Given the description of an element on the screen output the (x, y) to click on. 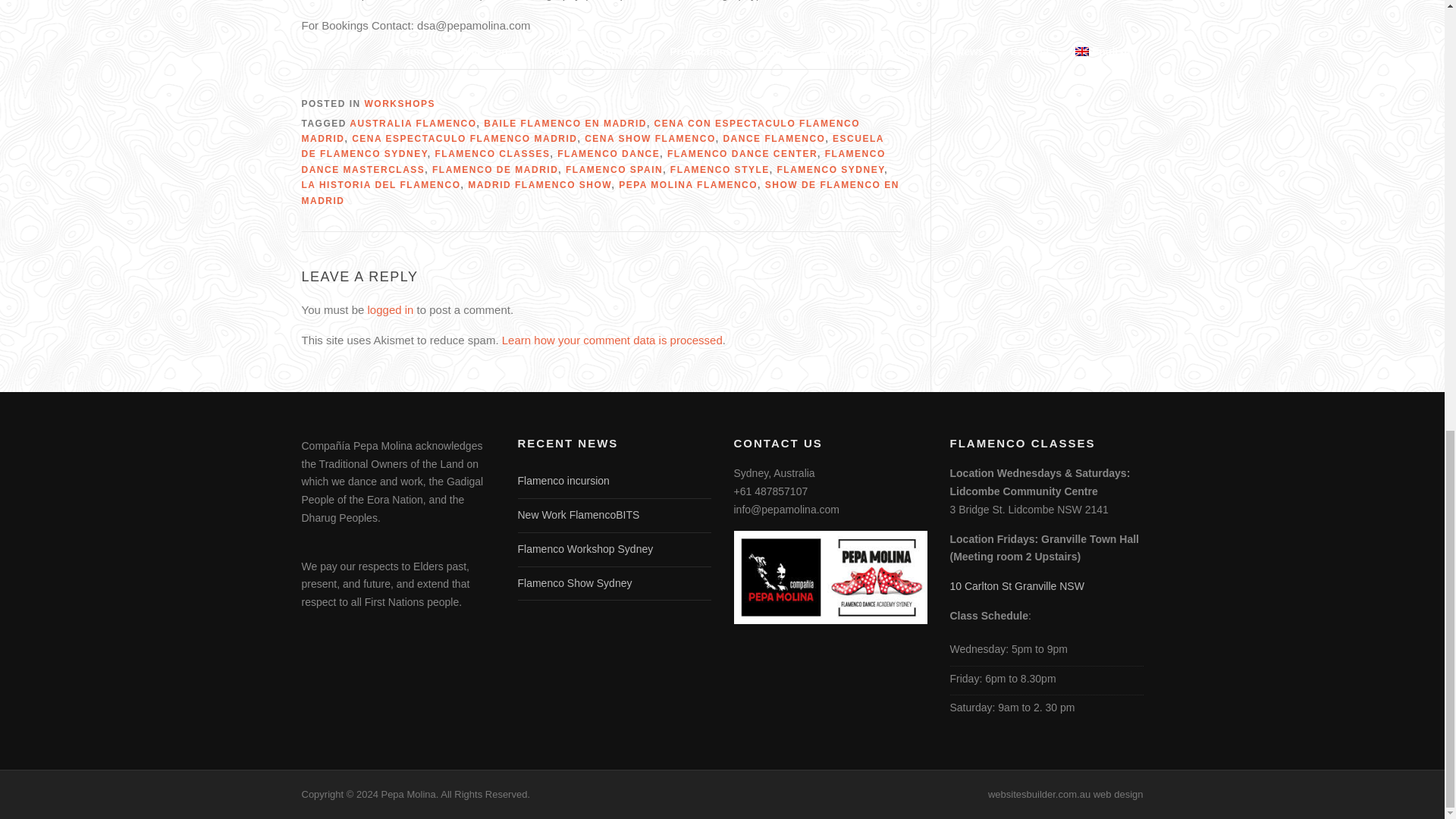
WORKSHOPS (400, 103)
AUSTRALIA FLAMENCO (412, 122)
CENA CON ESPECTACULO FLAMENCO MADRID (580, 130)
BAILE FLAMENCO EN MADRID (564, 122)
